Given the description of an element on the screen output the (x, y) to click on. 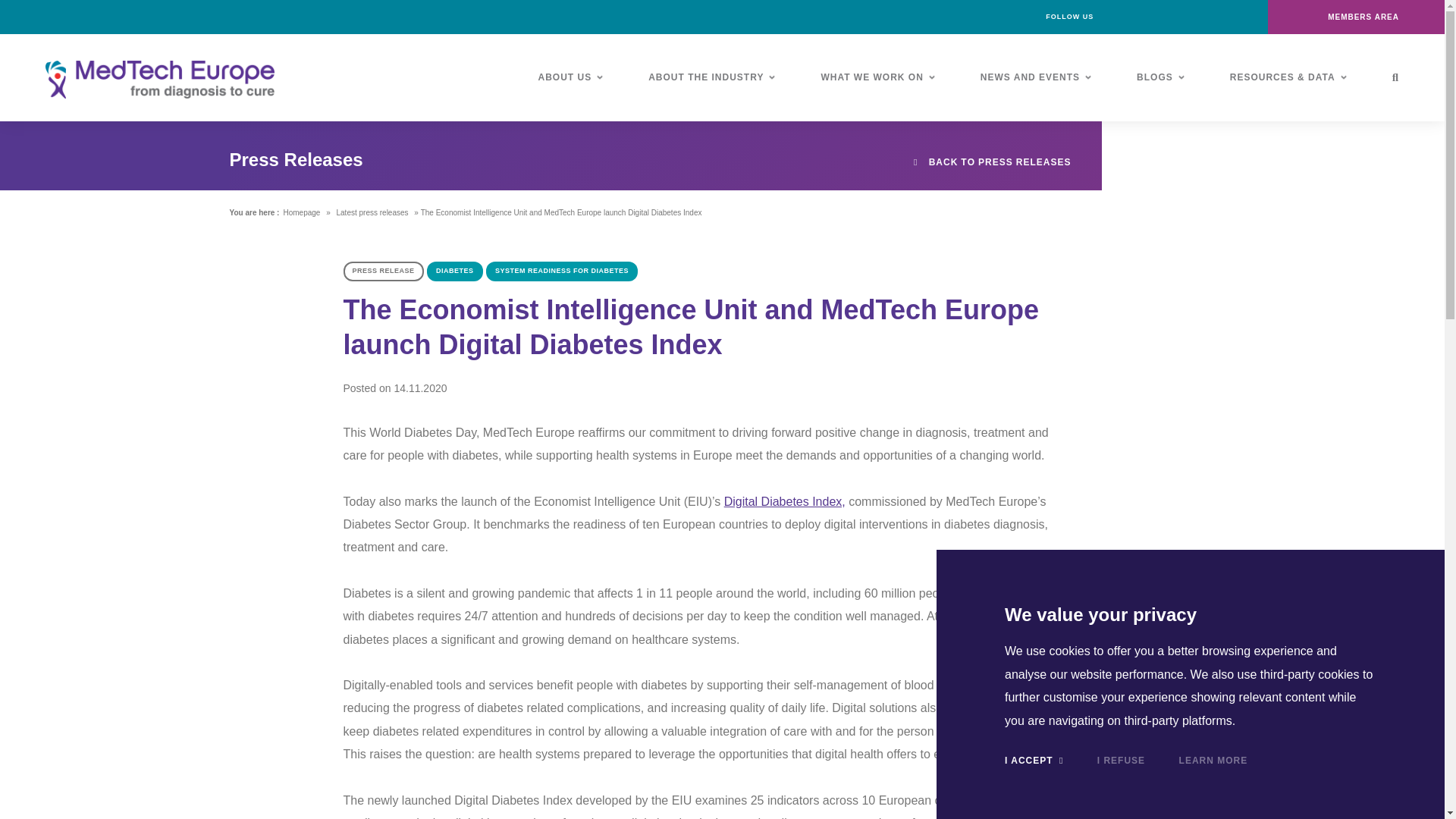
I REFUSE (1120, 760)
MEMBERS AREA (1356, 17)
ABOUT THE INDUSTRY (710, 77)
WHAT WE WORK ON (877, 77)
I ACCEPT (1033, 760)
Twitter (1186, 17)
Youtube (1220, 17)
LEARN MORE (1213, 760)
Linkedin (1152, 17)
Facebook (1117, 17)
